Given the description of an element on the screen output the (x, y) to click on. 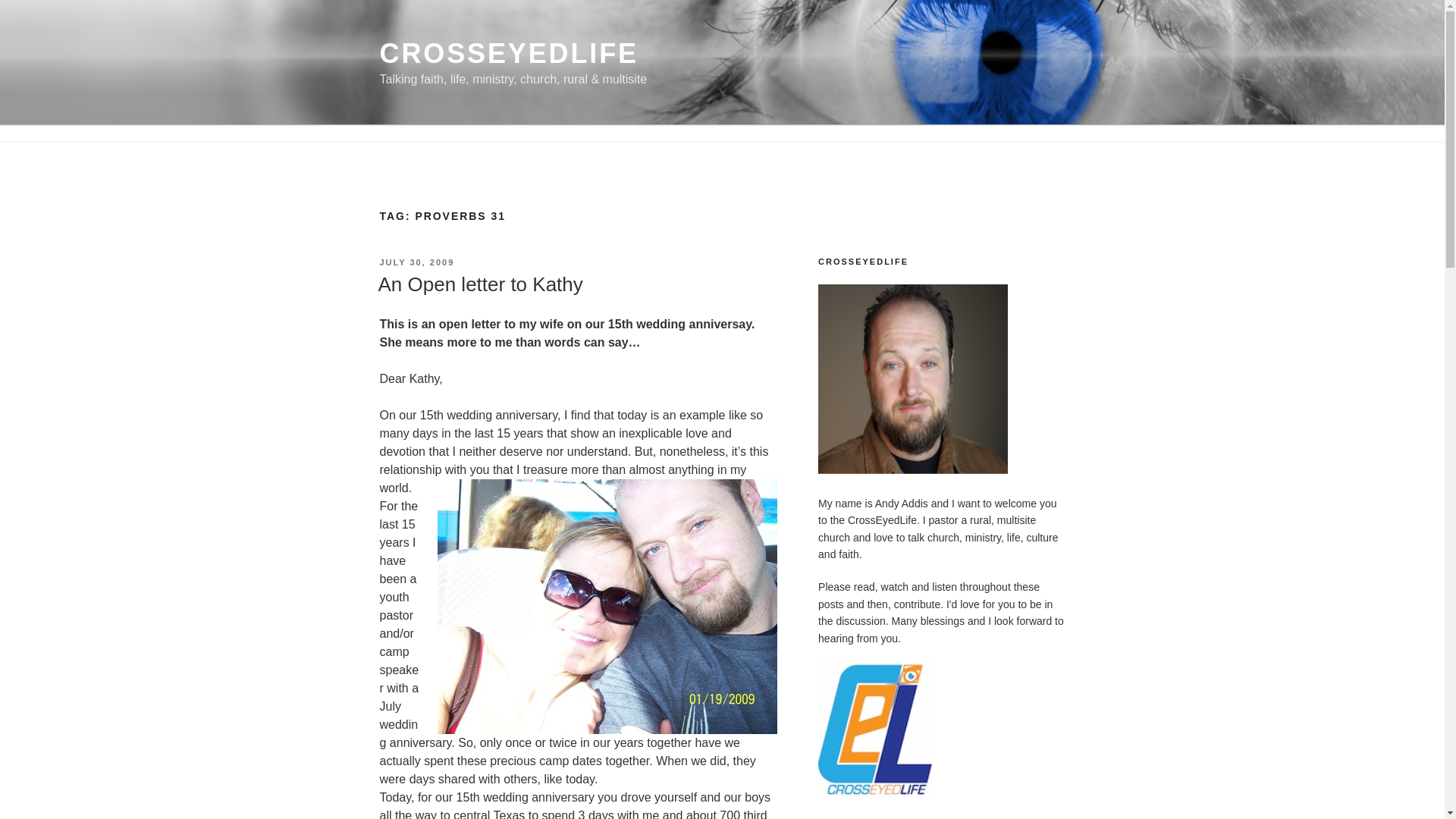
CROSSEYEDLIFE (508, 52)
An Open letter to Kathy (479, 283)
JULY 30, 2009 (416, 261)
